Given the description of an element on the screen output the (x, y) to click on. 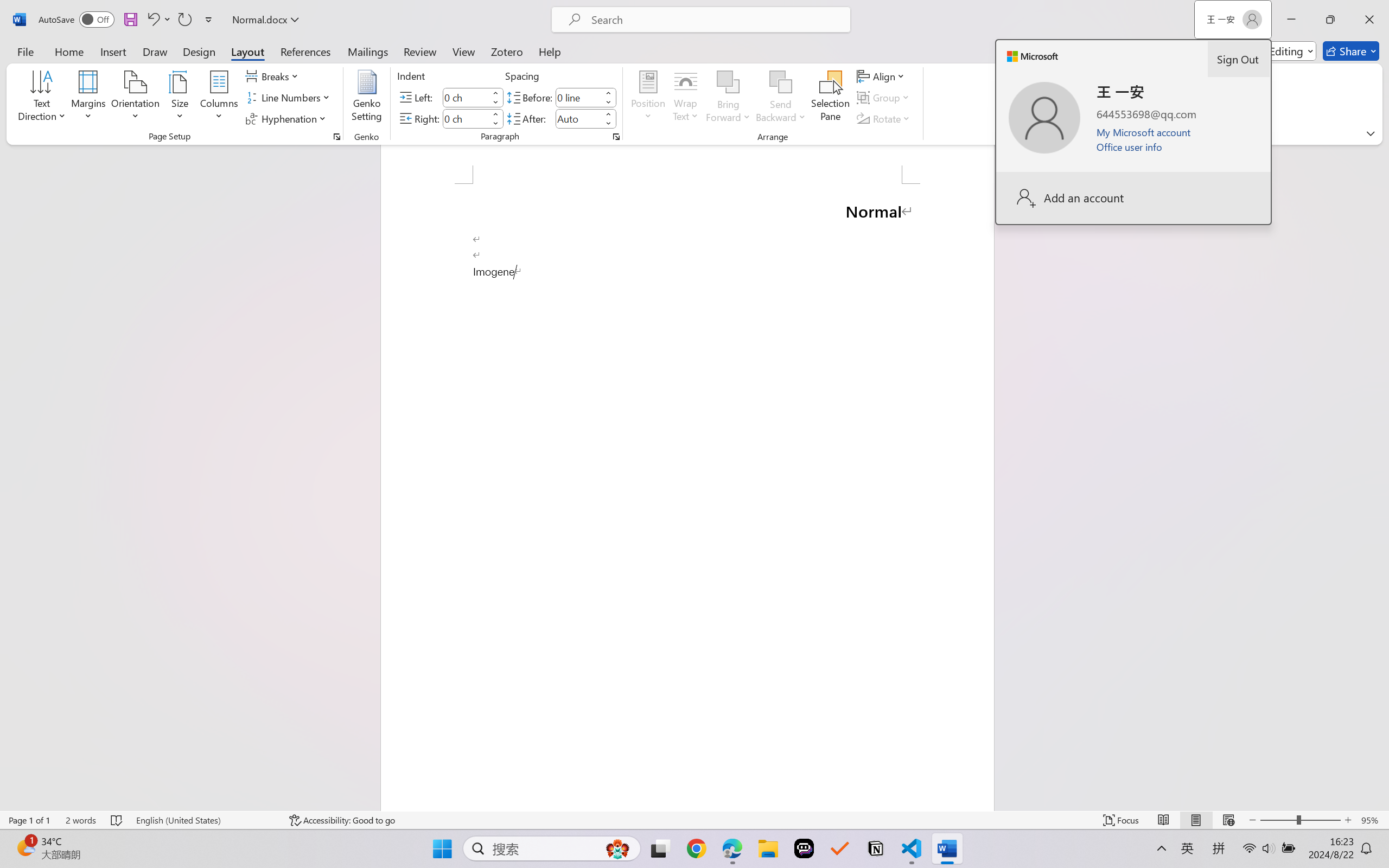
Group (884, 97)
Indent Left (465, 96)
Bring Forward (728, 97)
Send Backward (781, 97)
Help (549, 51)
More (608, 113)
